Given the description of an element on the screen output the (x, y) to click on. 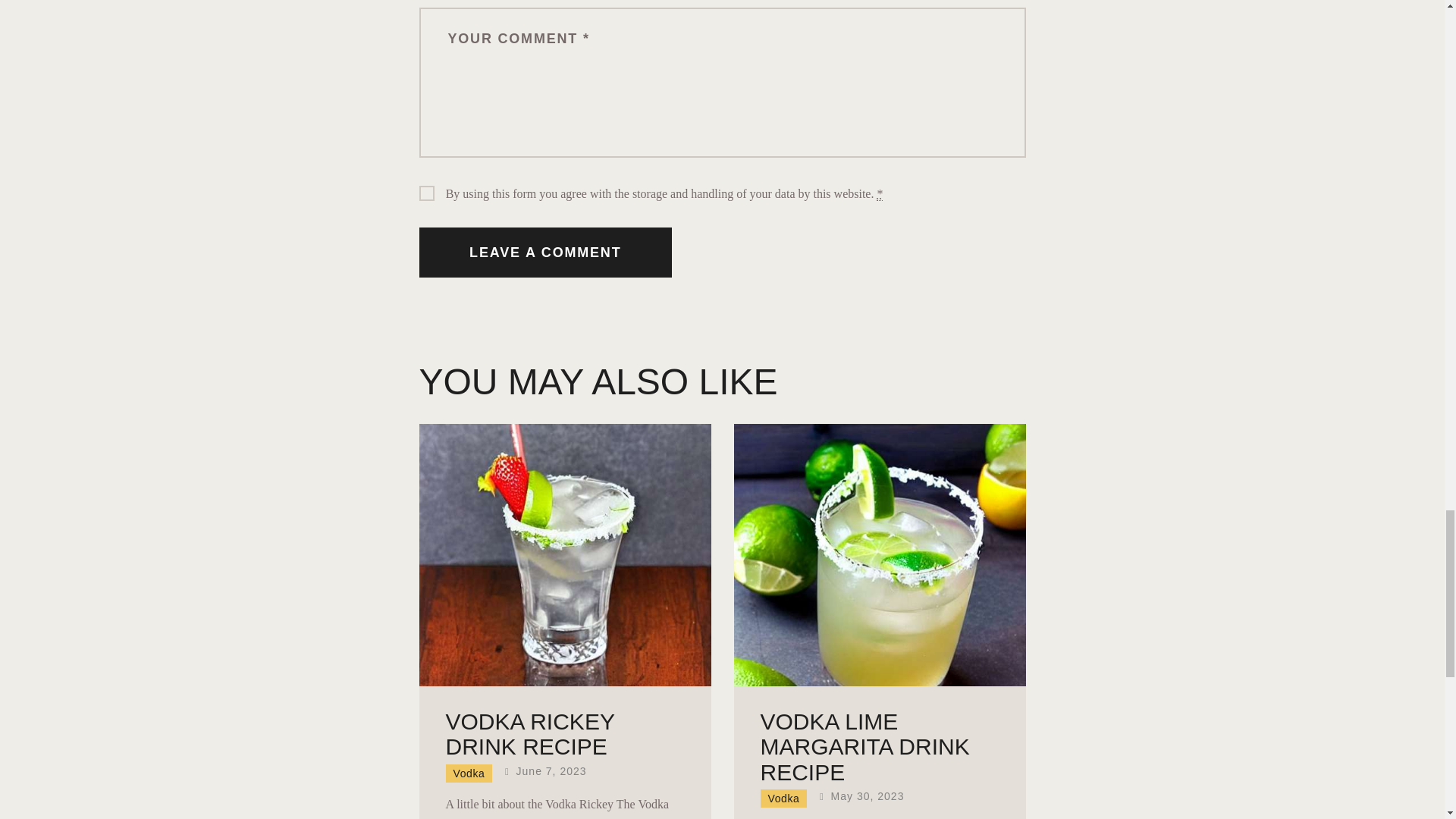
1 (423, 189)
Leave a comment (545, 252)
VODKA RICKEY DRINK RECIPE (529, 734)
Leave a comment (545, 252)
